Given the description of an element on the screen output the (x, y) to click on. 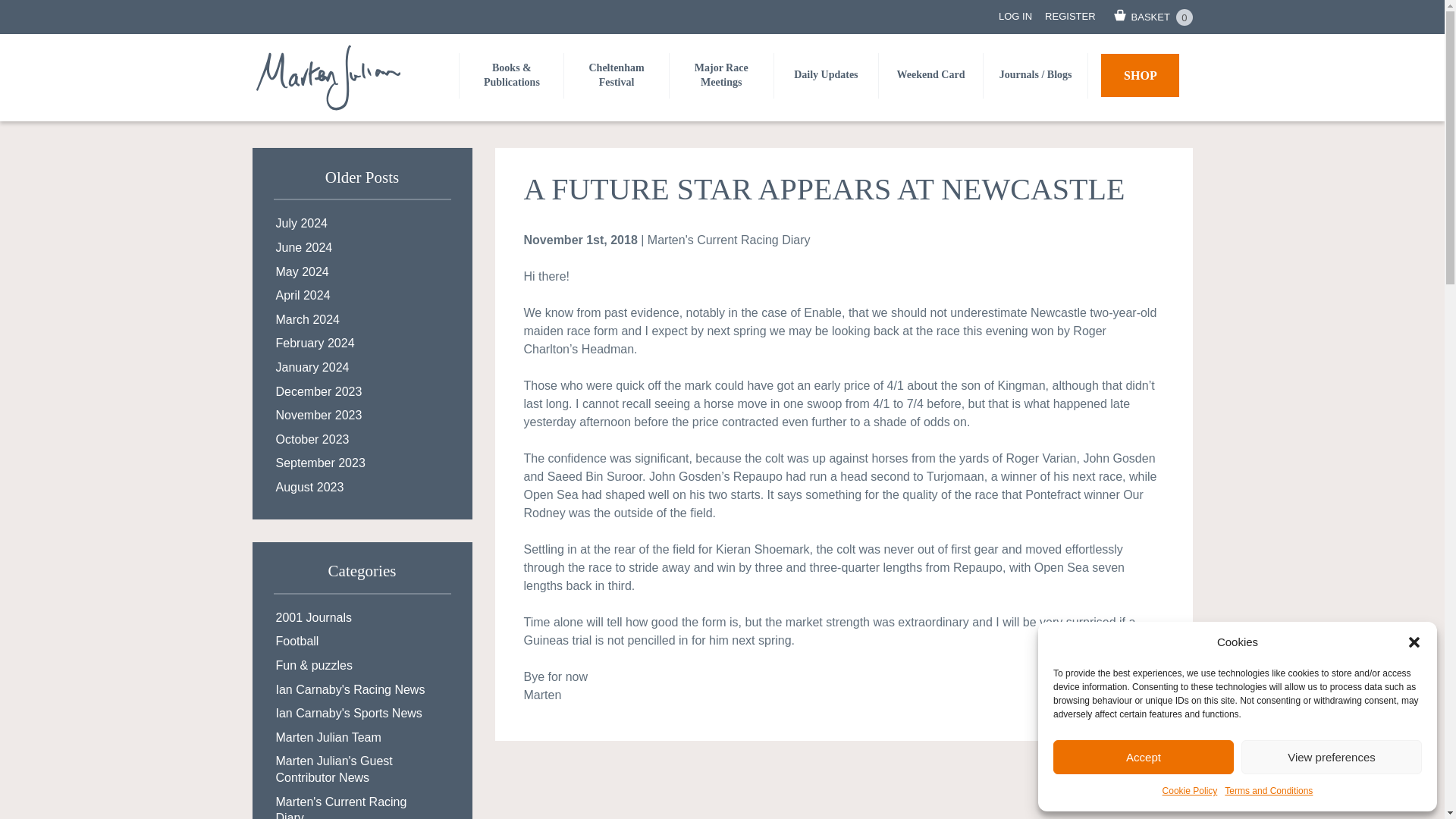
LOG IN (1021, 16)
Cheltenham Festival (616, 75)
May 2024 (362, 271)
BASKET 0 (1150, 17)
June 2024 (362, 247)
View preferences (1331, 756)
Cookie Policy (1189, 791)
Basket (1150, 17)
Terms and Conditions (1268, 791)
March 2024 (362, 320)
Major Race Meetings (721, 75)
July 2024 (362, 223)
Weekend Card (930, 74)
April 2024 (362, 295)
Accept (1142, 756)
